Given the description of an element on the screen output the (x, y) to click on. 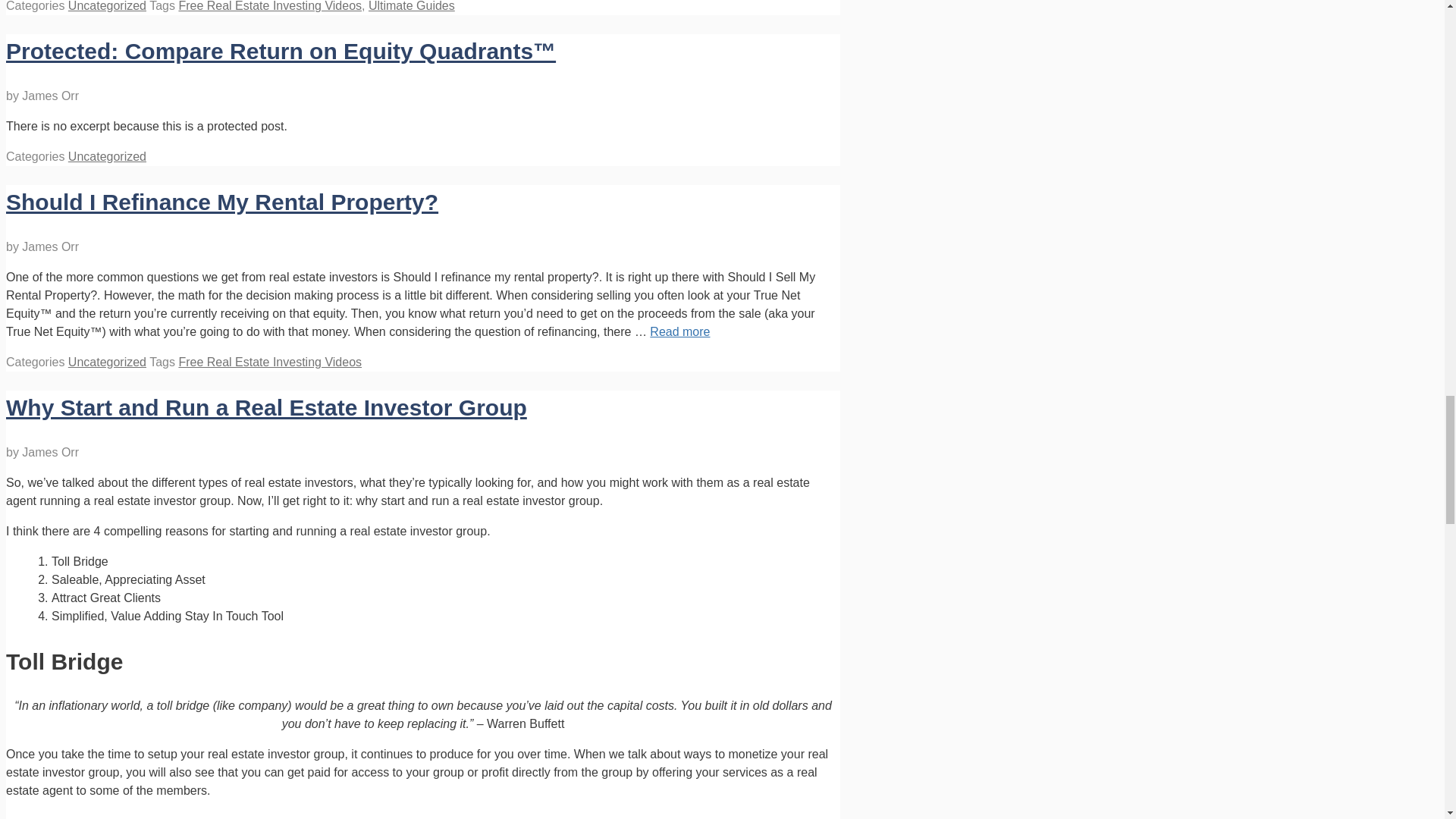
Ultimate Guides (411, 6)
Free Real Estate Investing Videos (269, 6)
Uncategorized (107, 6)
Should I Refinance My Rental Property? (679, 331)
Should I Refinance My Rental Property? (221, 201)
Uncategorized (107, 155)
